Given the description of an element on the screen output the (x, y) to click on. 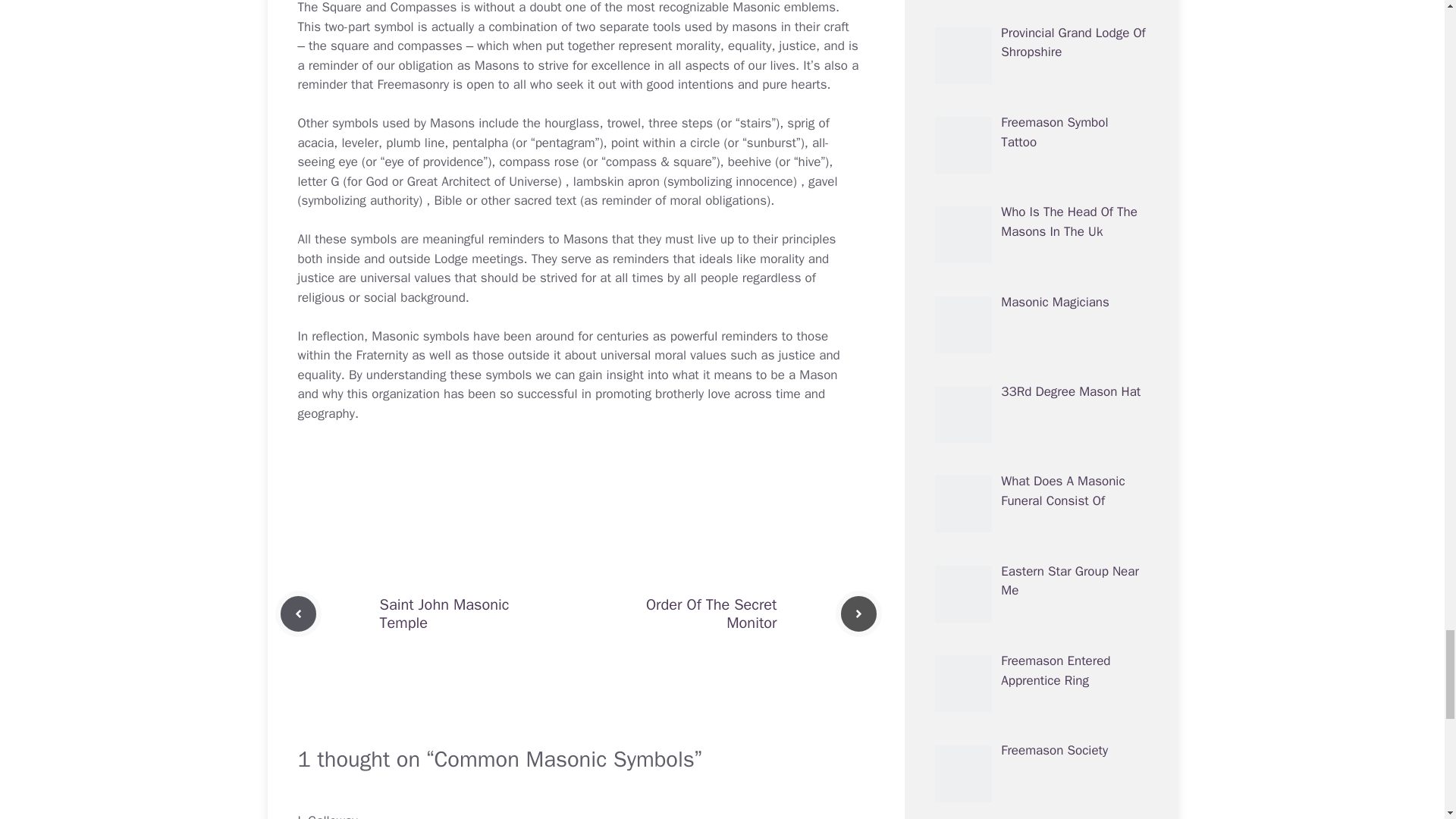
Masons (496, 65)
Freemasonry (412, 84)
Masonic emblems (783, 7)
Masons Emblem (783, 7)
Masonic Symbols (419, 335)
Being A Mason (813, 374)
